Given the description of an element on the screen output the (x, y) to click on. 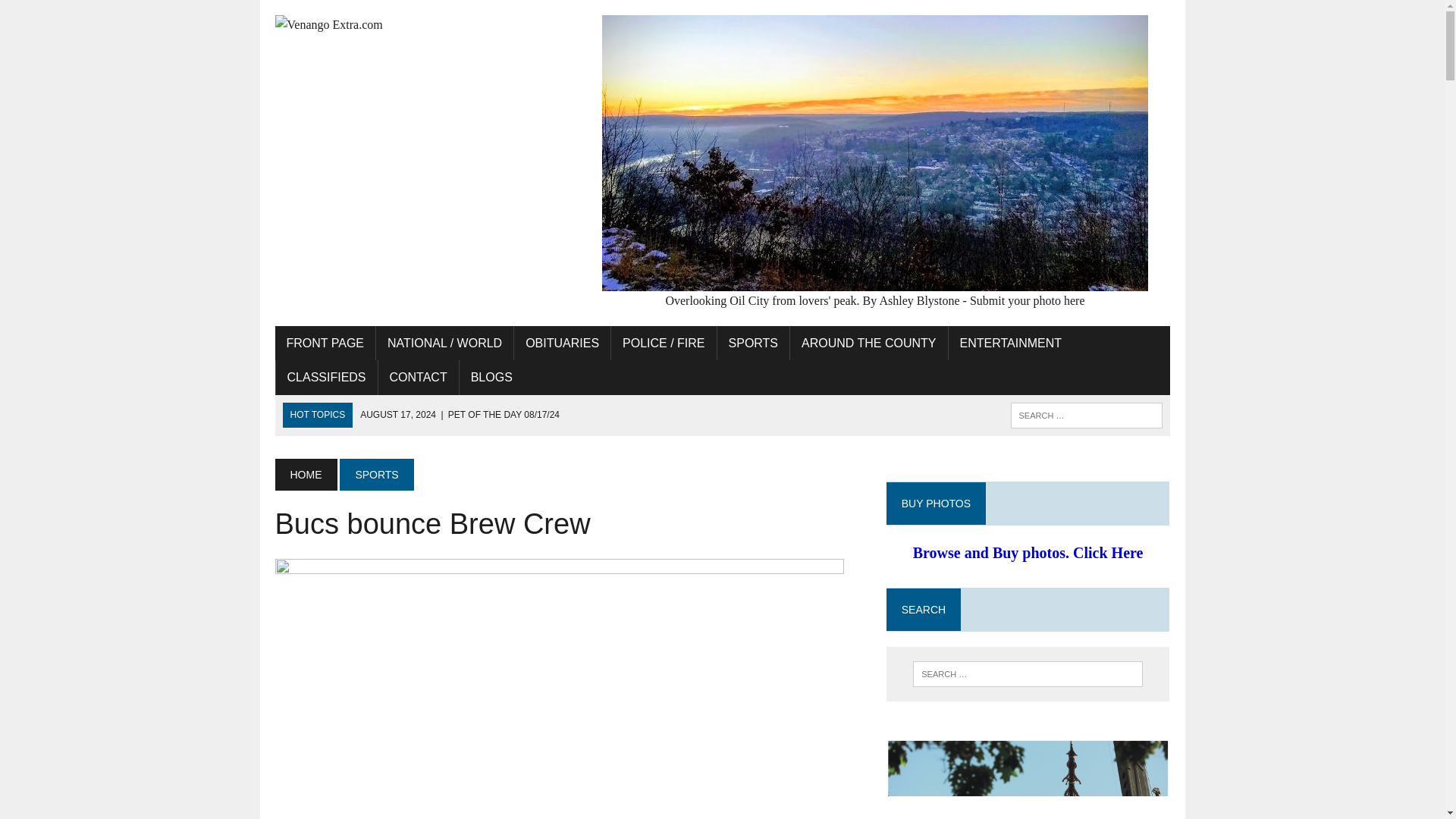
SPORTS (753, 343)
FRONT PAGE (325, 343)
CLASSIFIEDS (326, 377)
Search (75, 14)
AROUND THE COUNTY (868, 343)
Venango Extra.com (416, 25)
HOME (305, 474)
OBITUARIES (561, 343)
CONTACT (418, 377)
